Given the description of an element on the screen output the (x, y) to click on. 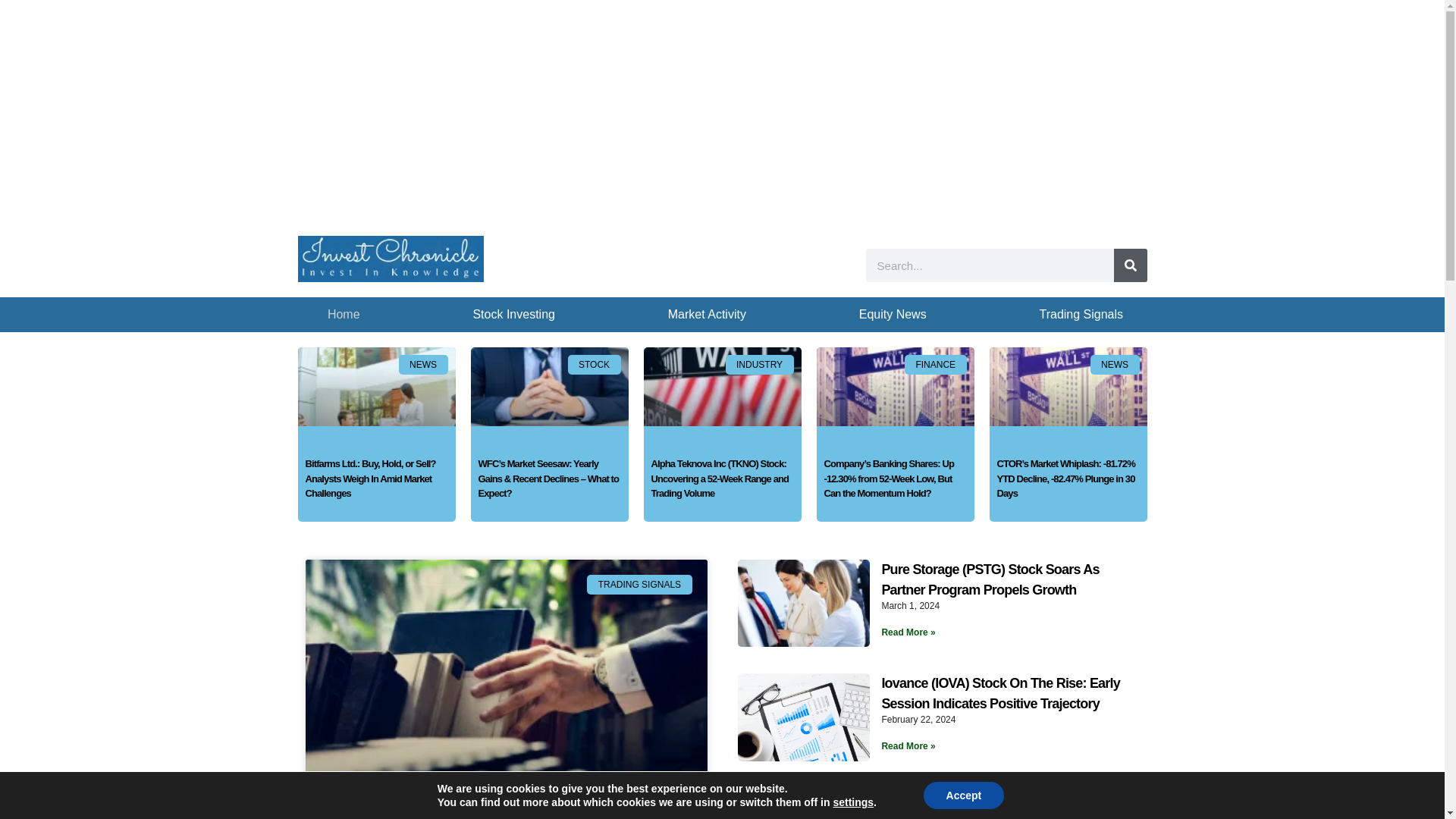
Stock Investing (513, 314)
Home (343, 314)
Trading Signals (1080, 314)
Market Activity (706, 314)
Equity News (892, 314)
